Given the description of an element on the screen output the (x, y) to click on. 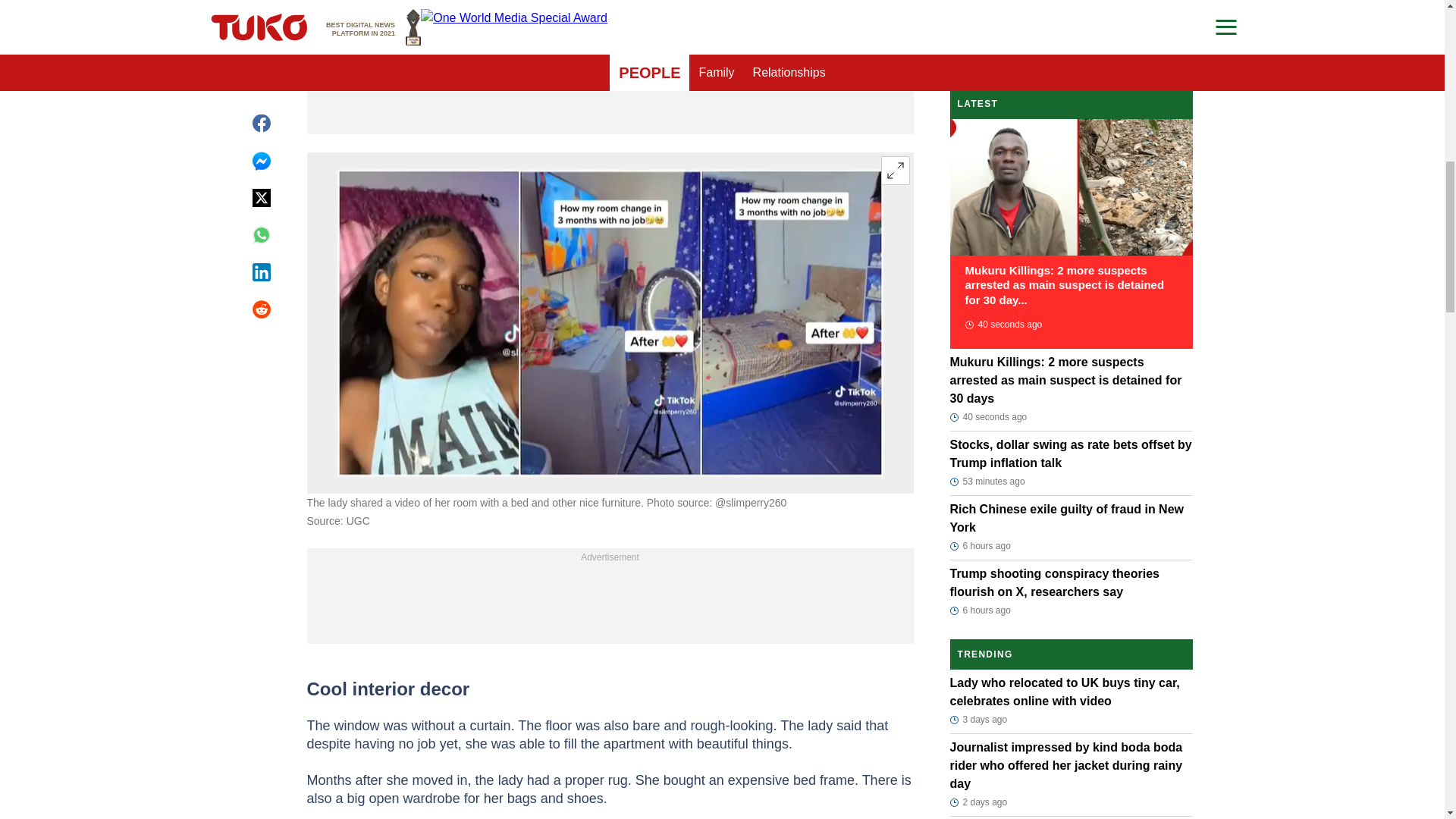
Expand image (895, 170)
